Given the description of an element on the screen output the (x, y) to click on. 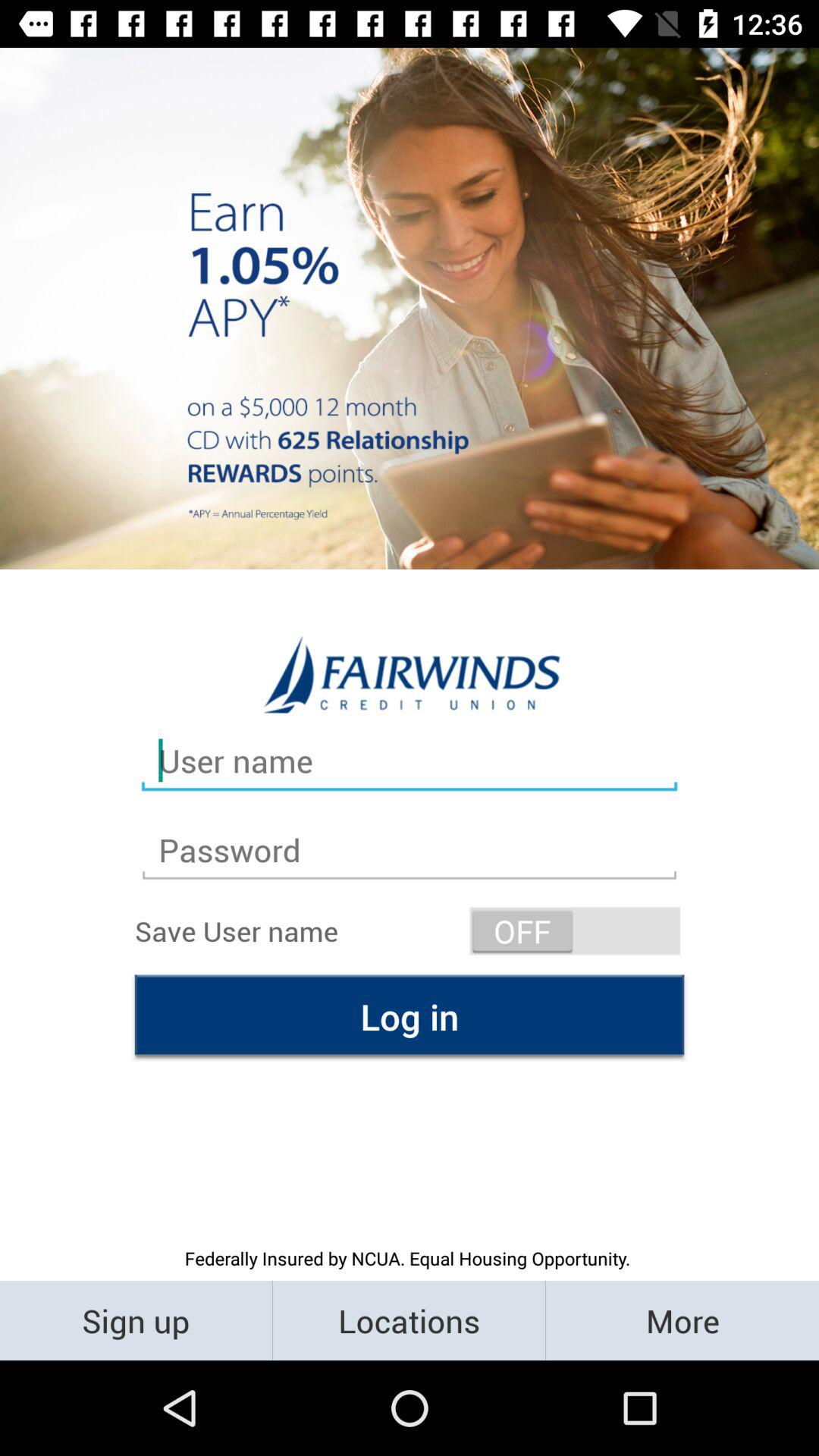
choose the locations item (409, 1320)
